Given the description of an element on the screen output the (x, y) to click on. 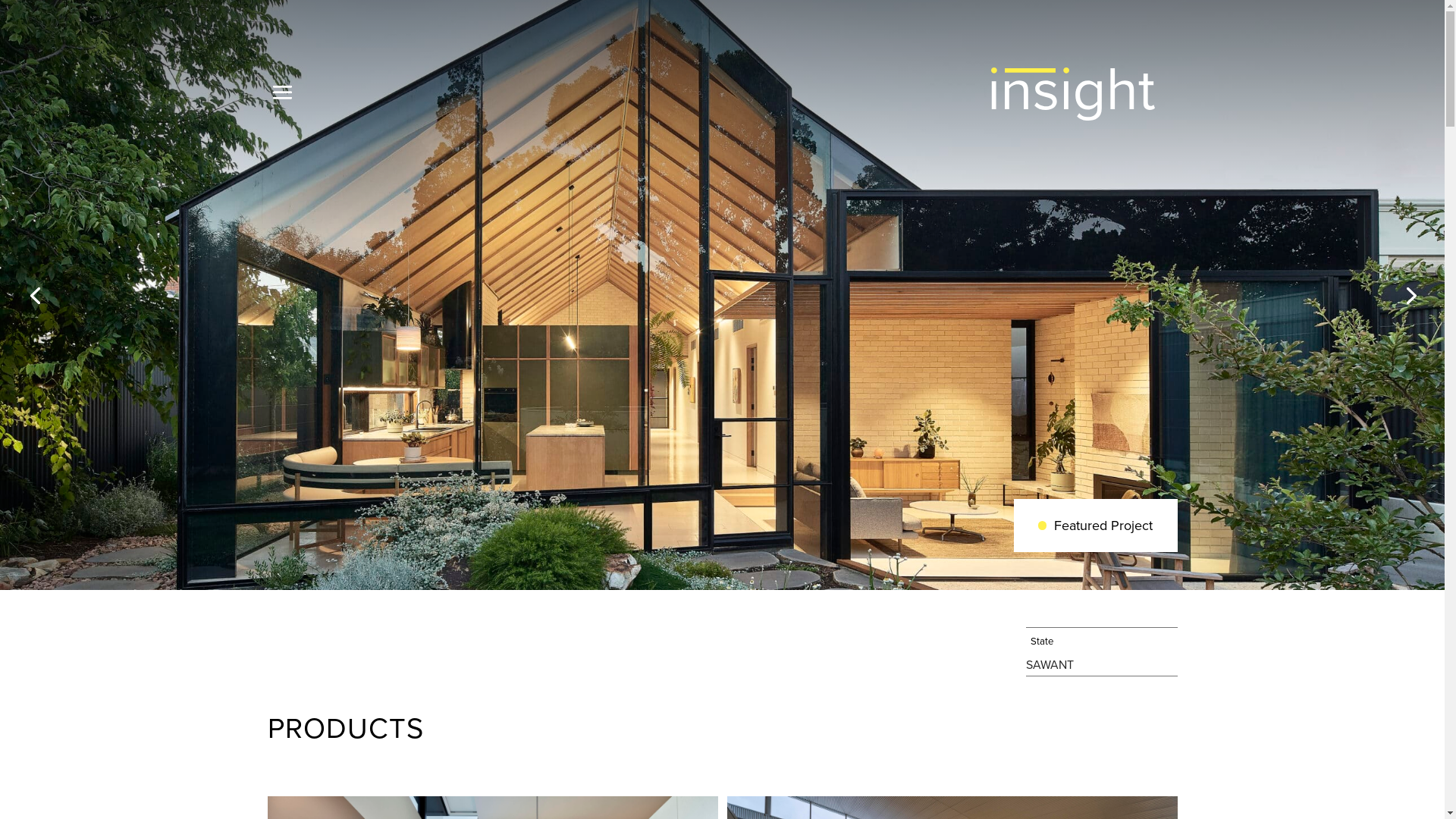
SA Element type: text (1032, 664)
Featured Project Element type: text (1095, 525)
State Element type: text (1100, 641)
NT Element type: text (1065, 664)
WA Element type: text (1049, 664)
